Given the description of an element on the screen output the (x, y) to click on. 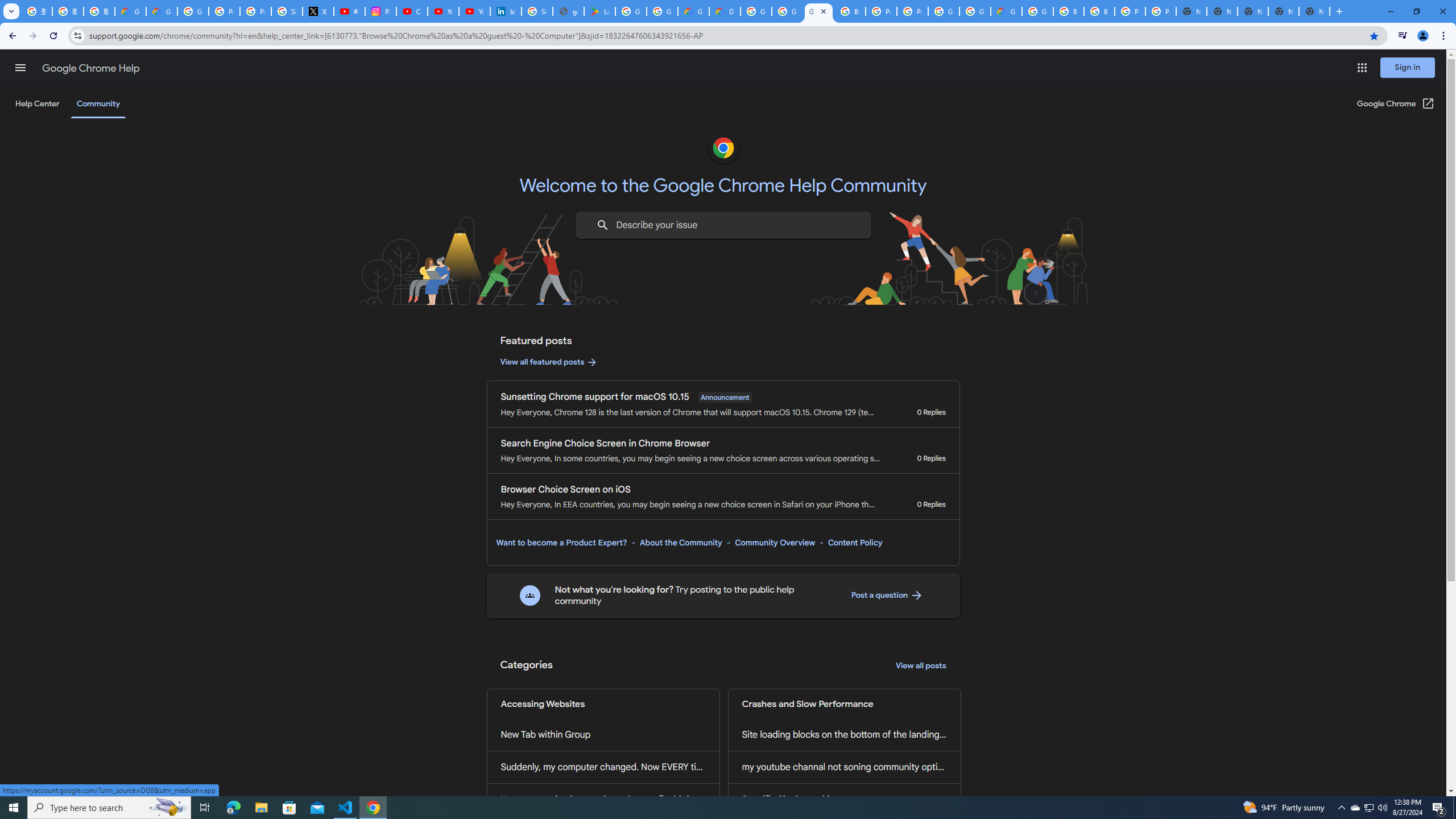
Community Overview (775, 542)
Privacy Help Center - Policies Help (223, 11)
Community (97, 103)
Google Cloud Platform (974, 11)
Google Cloud Platform (943, 11)
